Given the description of an element on the screen output the (x, y) to click on. 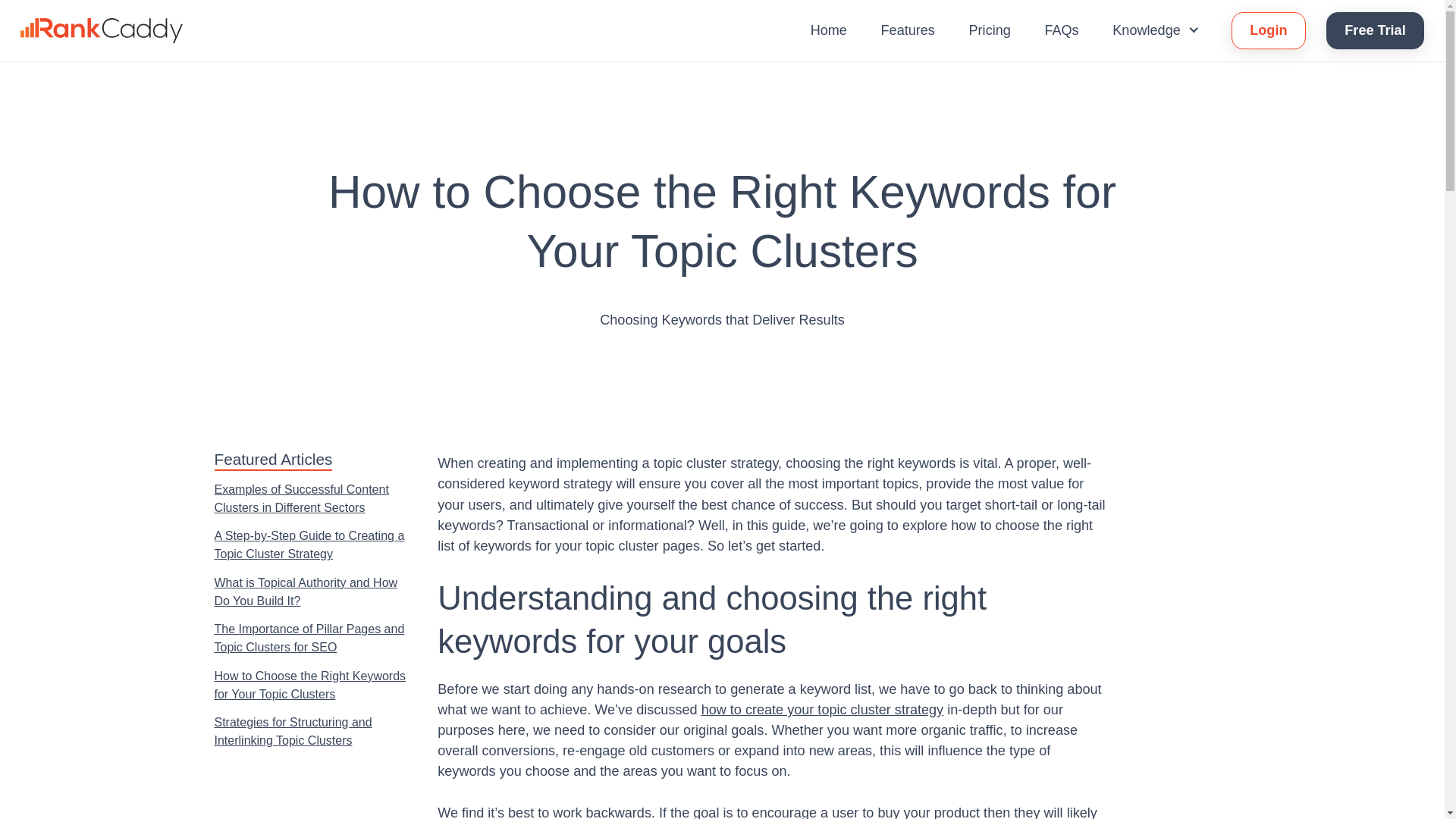
How to Choose the Right Keywords for Your Topic Clusters (310, 685)
Login (1268, 30)
Home (828, 29)
Strategies for Structuring and Interlinking Topic Clusters (310, 731)
Free Trial (1374, 30)
how to create your topic cluster strategy (822, 709)
A Step-by-Step Guide to Creating a Topic Cluster Strategy (310, 545)
What is Topical Authority and How Do You Build It? (310, 592)
Knowledge (1155, 29)
Examples of Successful Content Clusters in Different Sectors (310, 498)
The Importance of Pillar Pages and Topic Clusters for SEO (310, 637)
Features (907, 29)
Pricing (989, 29)
